Given the description of an element on the screen output the (x, y) to click on. 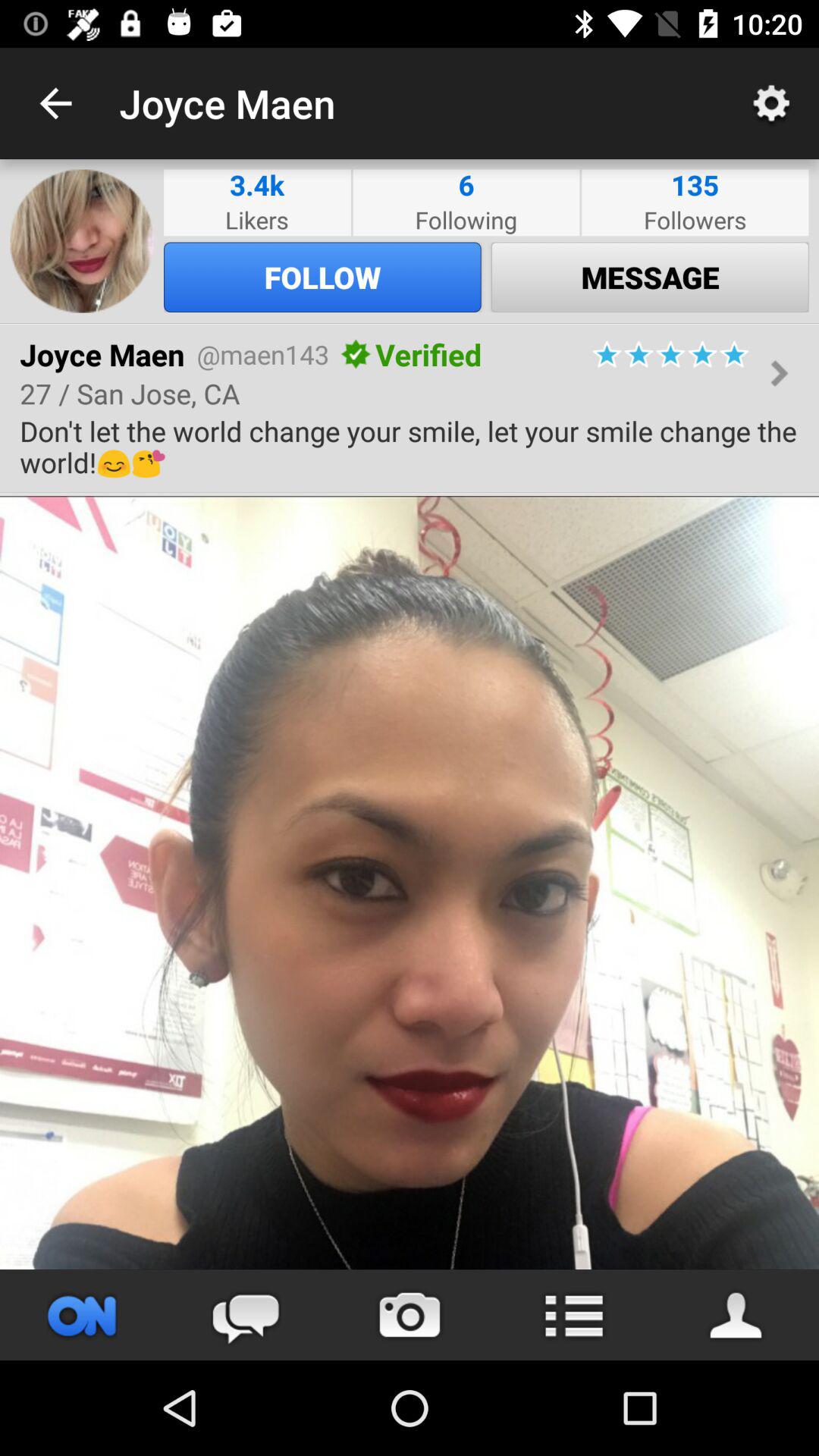
go to chat (245, 1315)
